Given the description of an element on the screen output the (x, y) to click on. 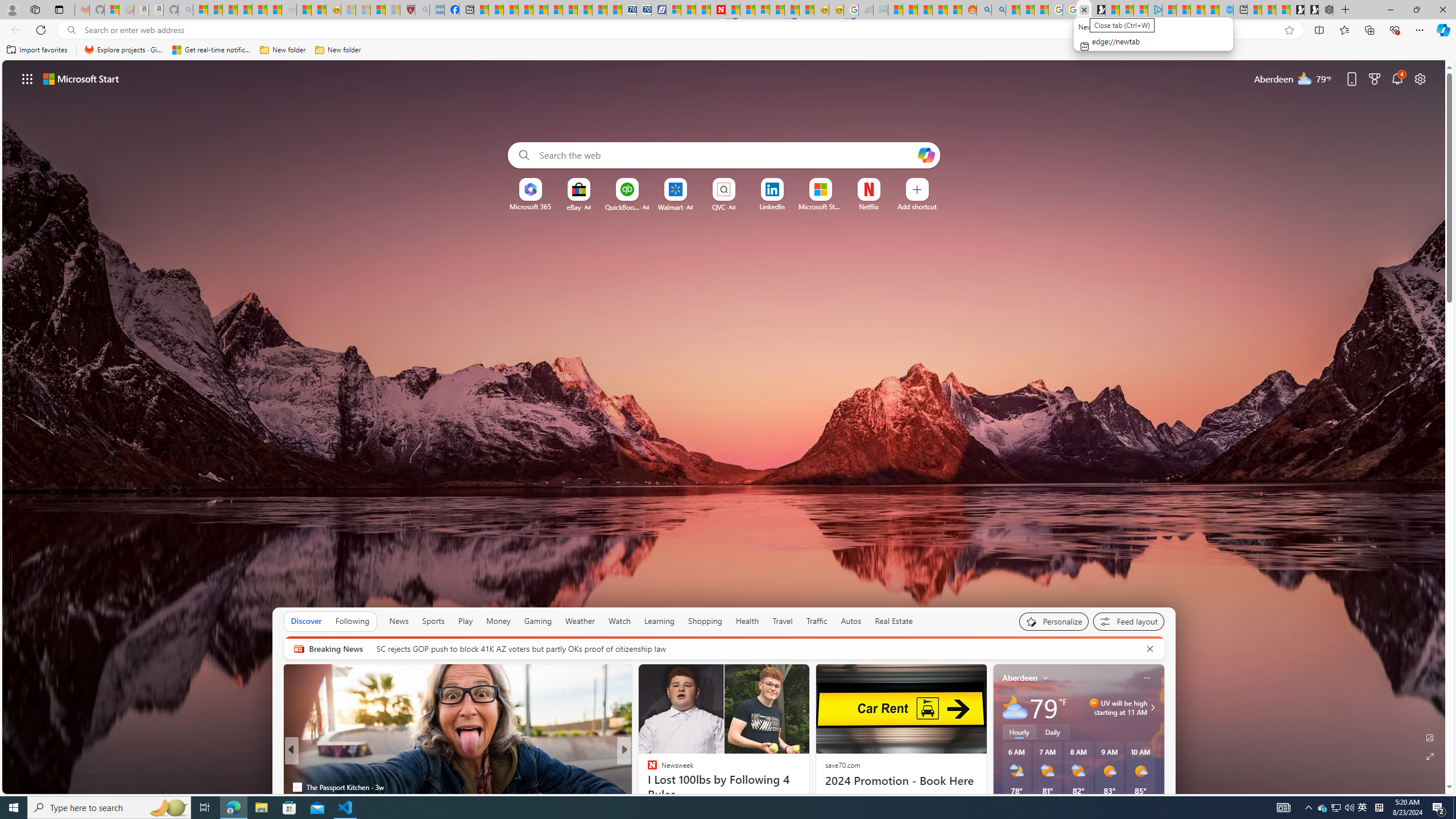
Play (465, 621)
Body Network (647, 768)
Money (497, 621)
XDA Developers (647, 768)
Sports (432, 621)
Class: icon-img (1146, 677)
Climate Damage Becomes Too Severe To Reverse (525, 9)
HowToGeek (647, 786)
NCL Adult Asthma Inhaler Choice Guideline - Sleeping (437, 9)
